Given the description of an element on the screen output the (x, y) to click on. 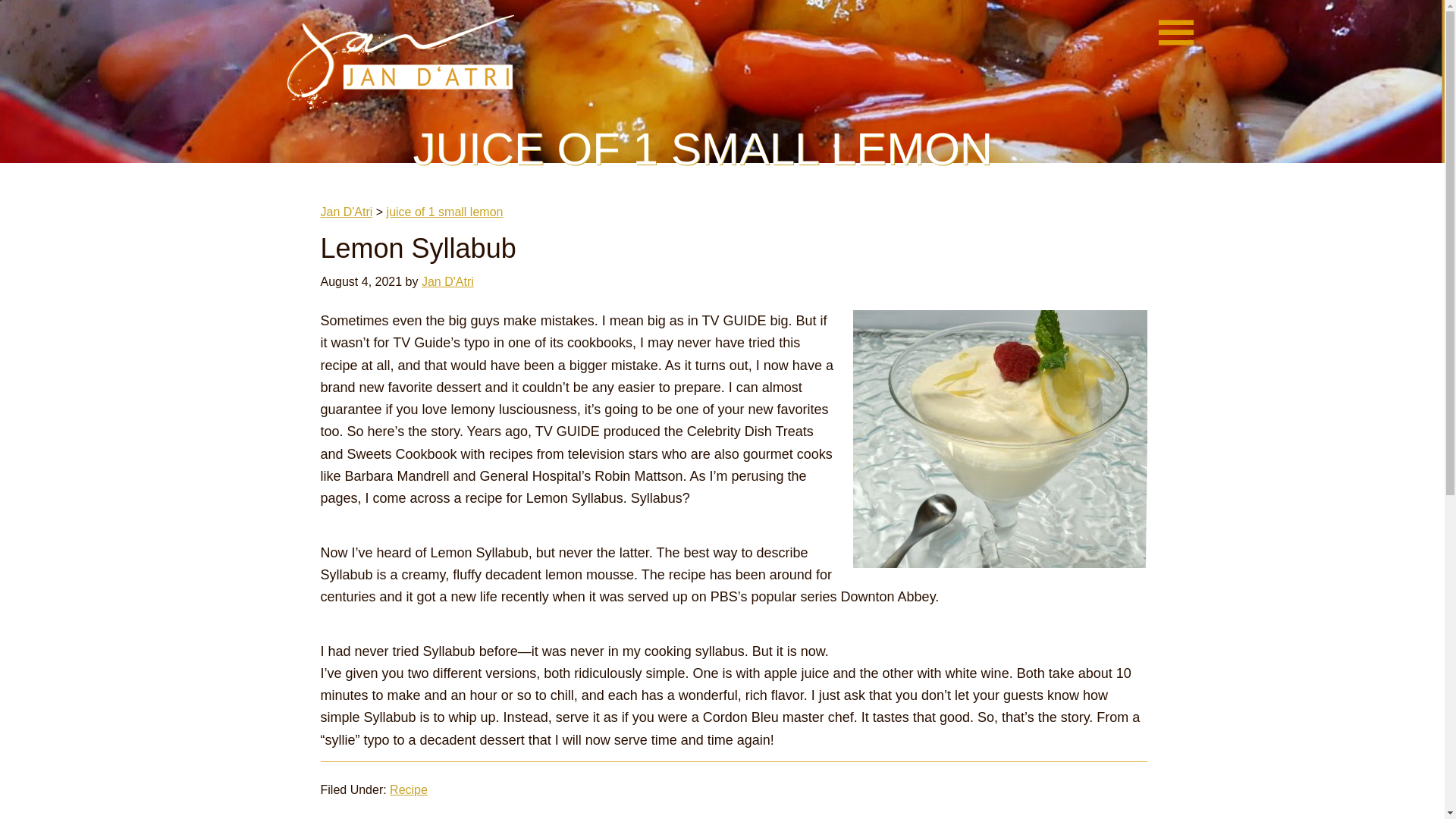
Jan D'Atri (346, 211)
juice of 1 small lemon (445, 211)
Jan D'Atri (399, 64)
Jan D'Atri (448, 281)
Recipe (409, 789)
Lemon Syllabub (417, 247)
Go to Jan D'Atri. (346, 211)
Go to the juice of 1 small lemon Ingredient archives. (445, 211)
